Given the description of an element on the screen output the (x, y) to click on. 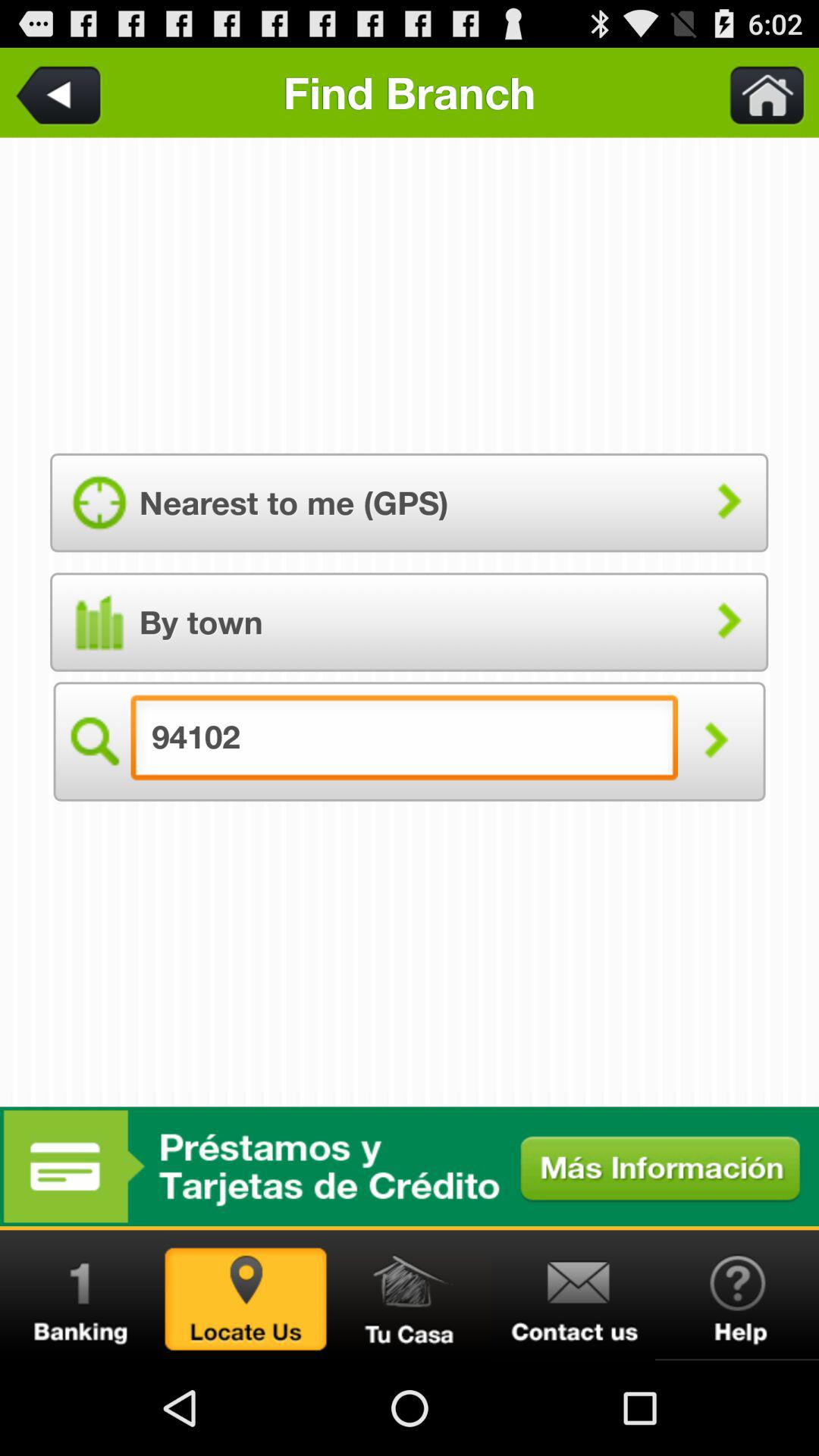
click home icon (757, 92)
